Given the description of an element on the screen output the (x, y) to click on. 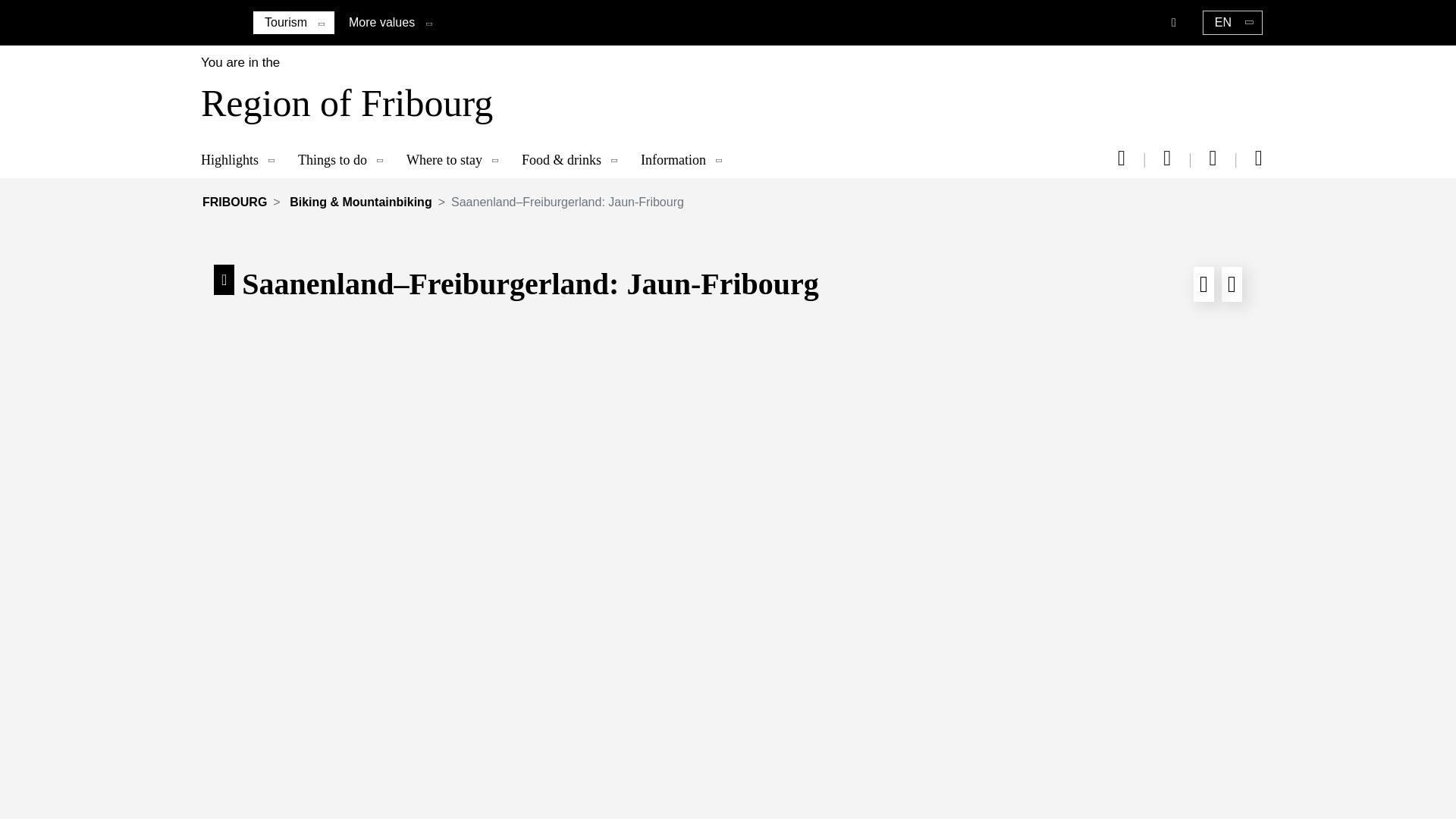
Highlights (241, 160)
Region of Fribourg (343, 107)
More values (381, 21)
Things to do (343, 160)
Tourism (285, 22)
